Given the description of an element on the screen output the (x, y) to click on. 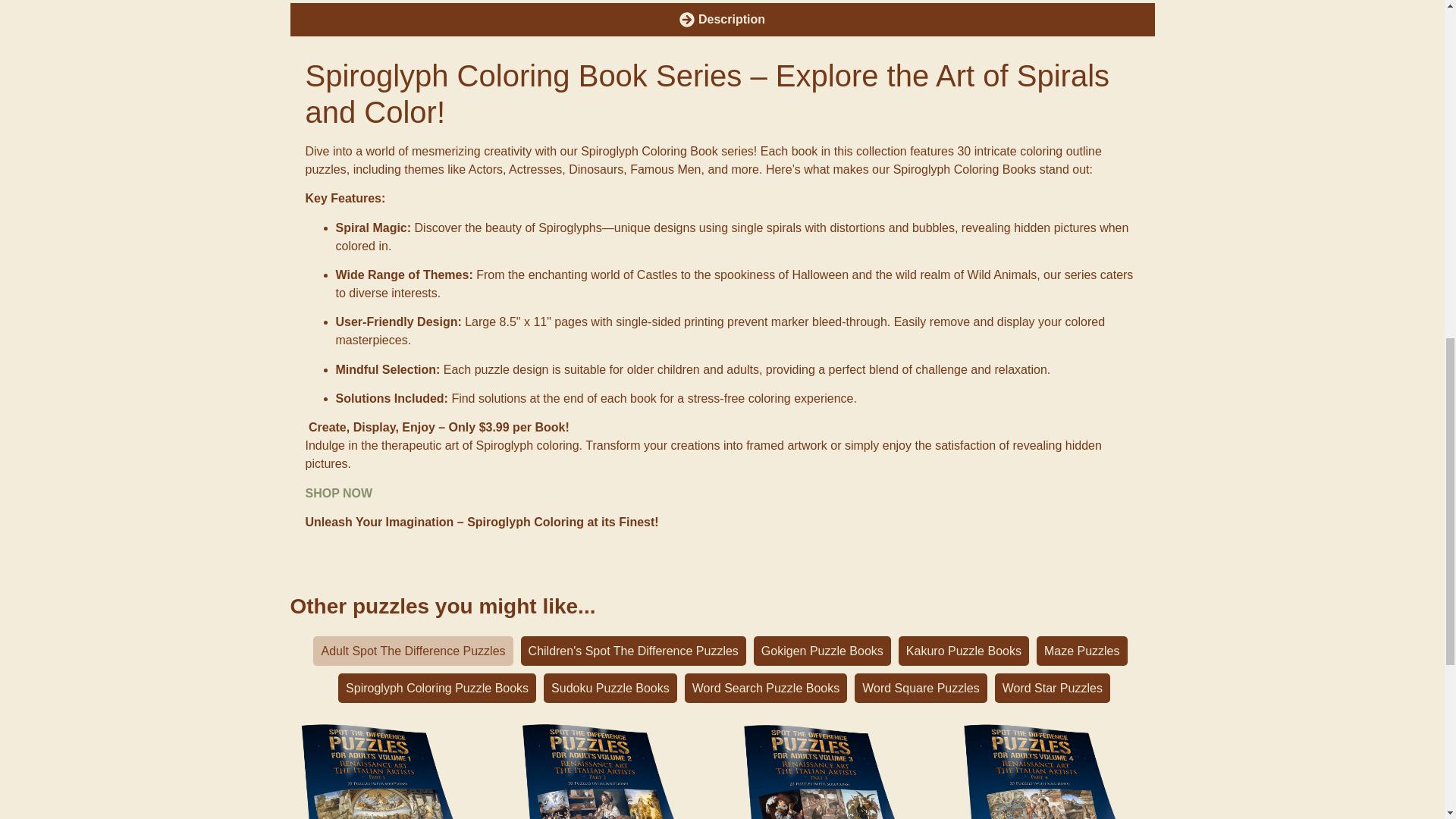
Spiroglyph Coloring Puzzle Books (436, 687)
Word Star Puzzles (1051, 687)
Word Square Puzzles (920, 687)
Adult Spot The Difference Puzzles (412, 650)
Sudoku Puzzle Books (610, 687)
SHOP NOW (338, 492)
Word Search Puzzle Books (765, 687)
Gokigen Puzzle Books (822, 650)
Children's Spot The Difference Puzzles (633, 650)
Maze Puzzles (1081, 650)
Kakuro Puzzle Books (963, 650)
